Given the description of an element on the screen output the (x, y) to click on. 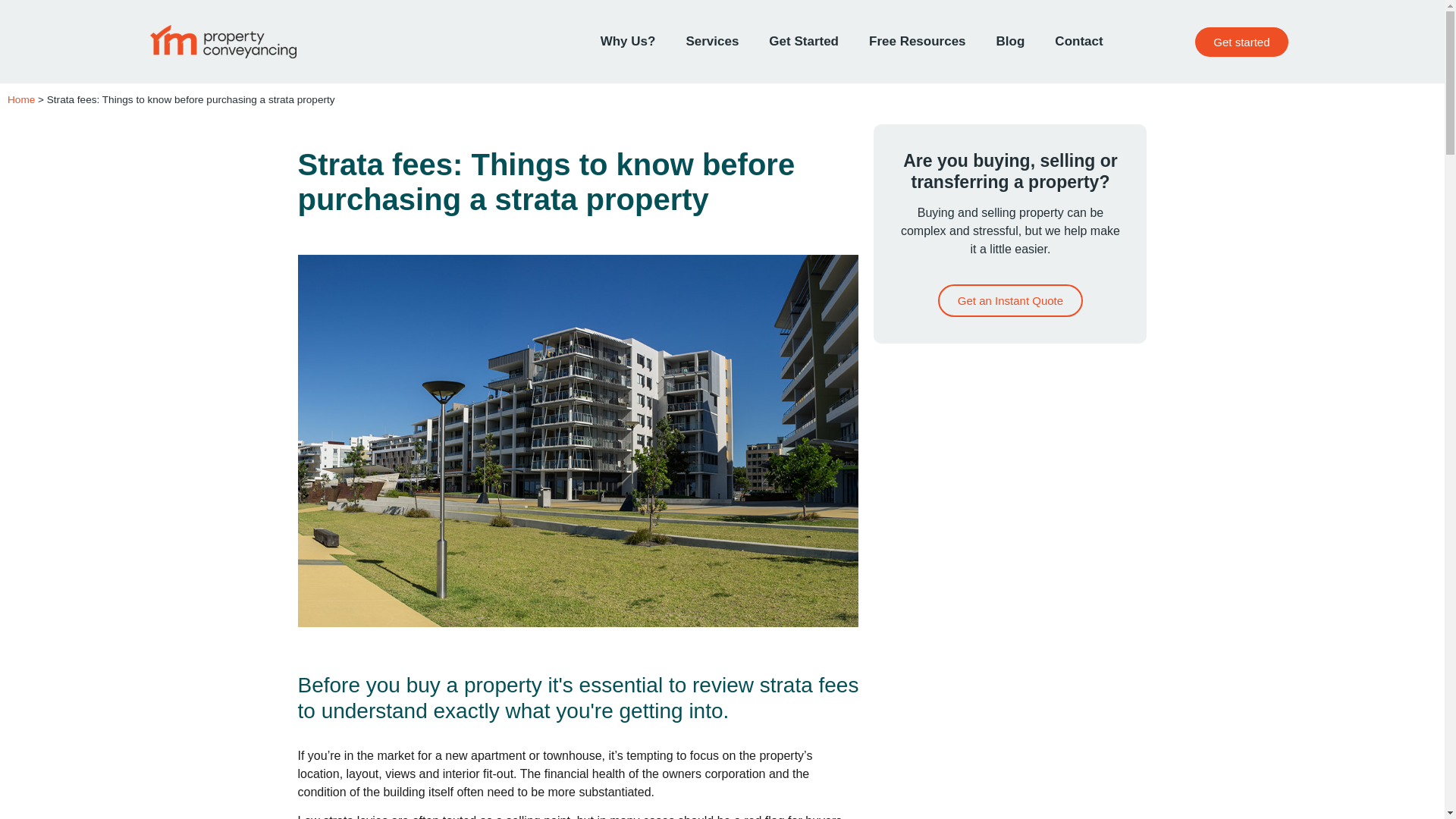
Contact (1078, 41)
Why Us? (628, 41)
Get Started (803, 41)
Free Resources (917, 41)
Blog (1011, 41)
Services (711, 41)
